Given the description of an element on the screen output the (x, y) to click on. 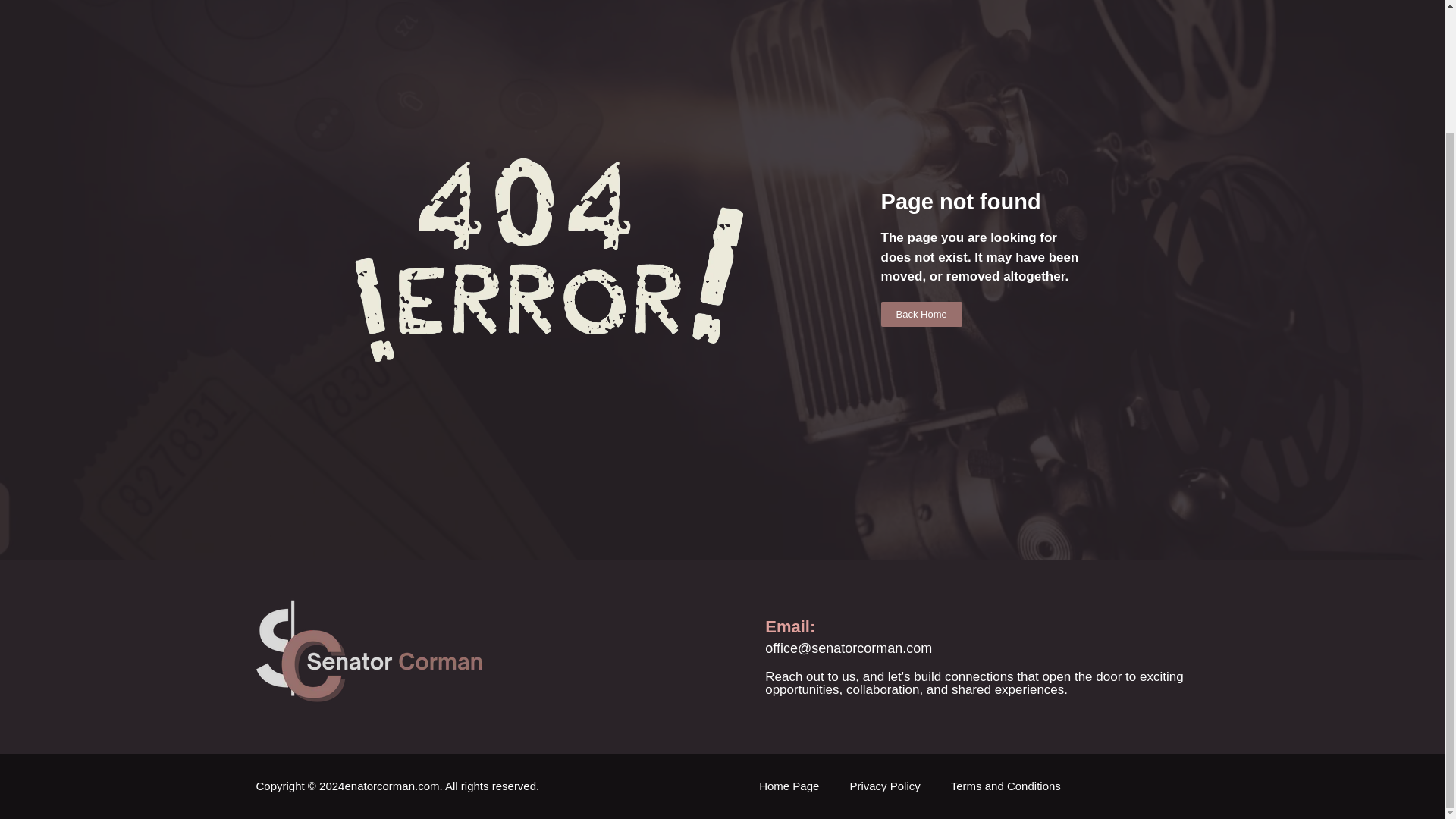
Back Home (921, 289)
Privacy Policy (884, 786)
Home Page (789, 786)
Terms and Conditions (1005, 786)
